Given the description of an element on the screen output the (x, y) to click on. 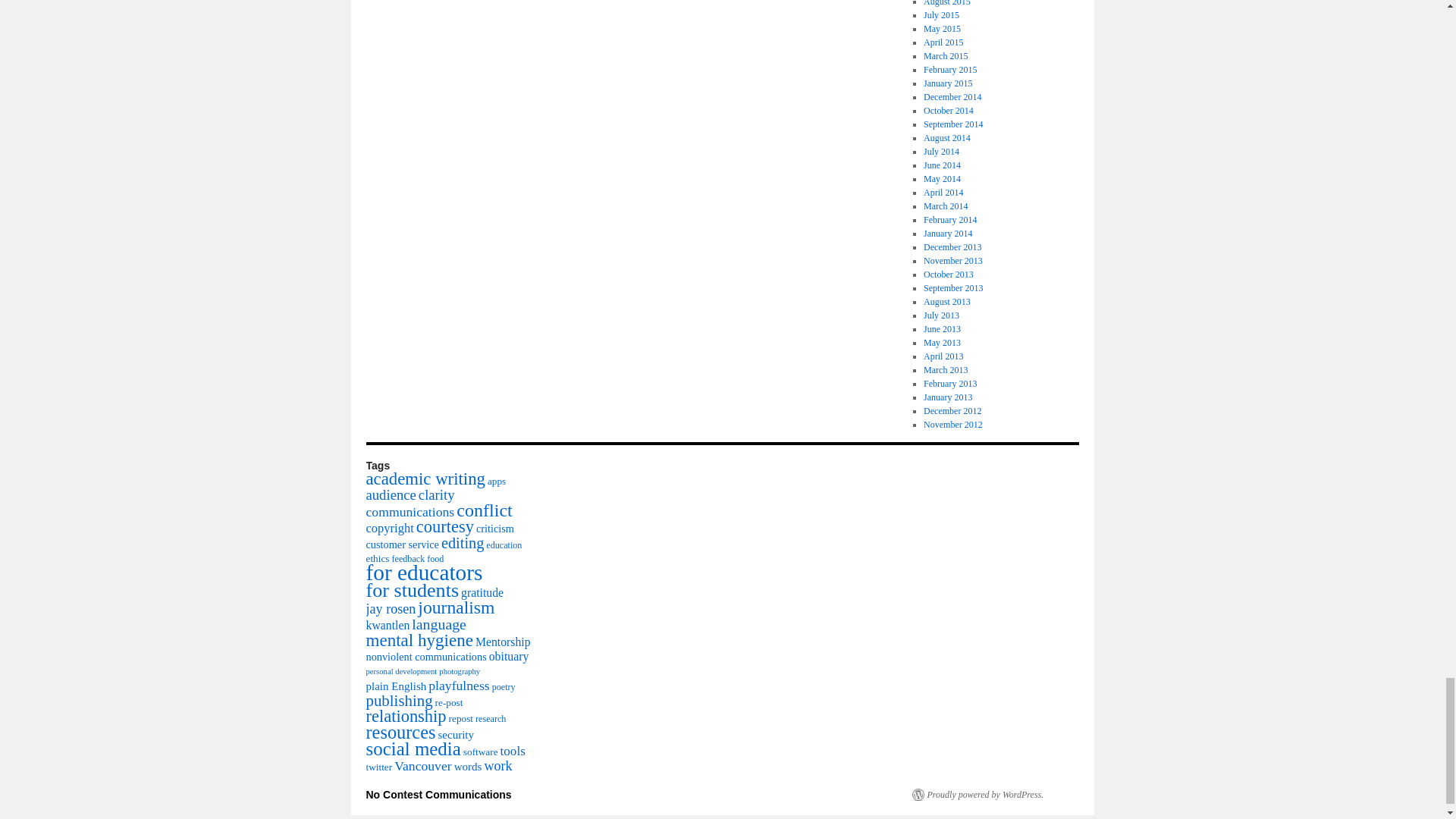
Semantic Personal Publishing Platform (977, 794)
